Given the description of an element on the screen output the (x, y) to click on. 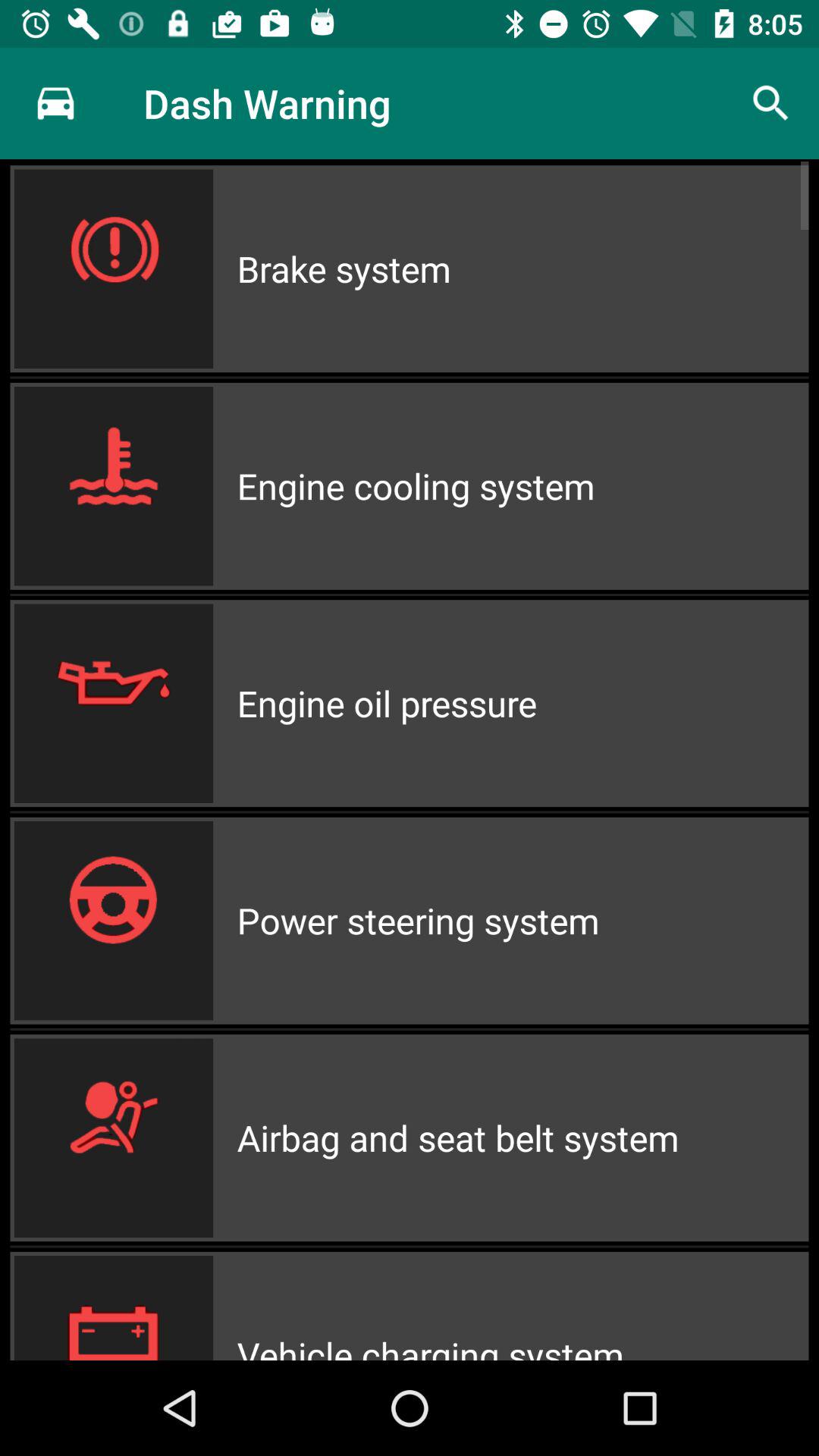
swipe until the brake system (522, 268)
